Given the description of an element on the screen output the (x, y) to click on. 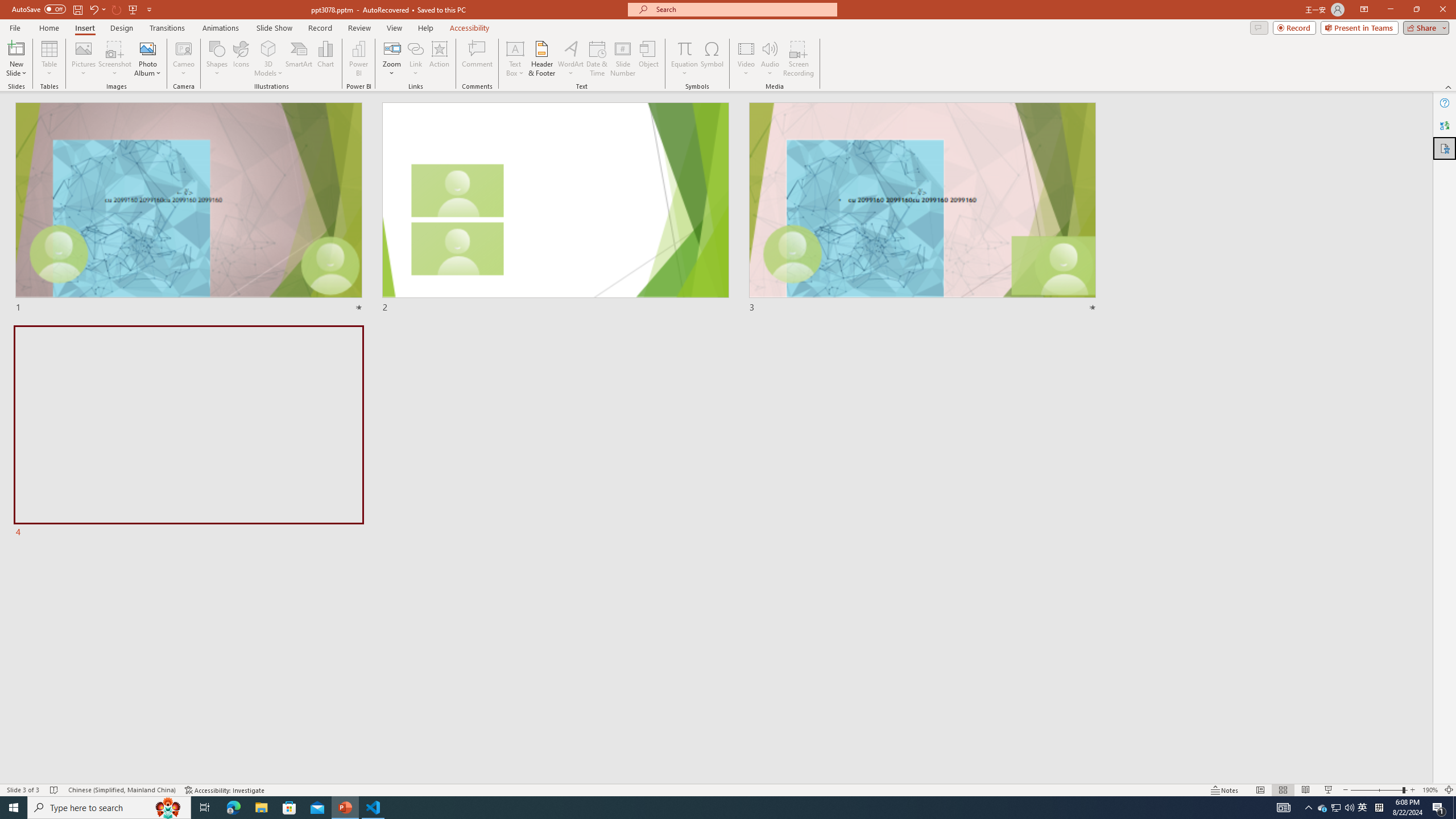
Link (415, 58)
Symbol... (711, 58)
3D Models (268, 48)
Equation (683, 58)
Video (745, 58)
WordArt (570, 58)
Screenshot (114, 58)
